Given the description of an element on the screen output the (x, y) to click on. 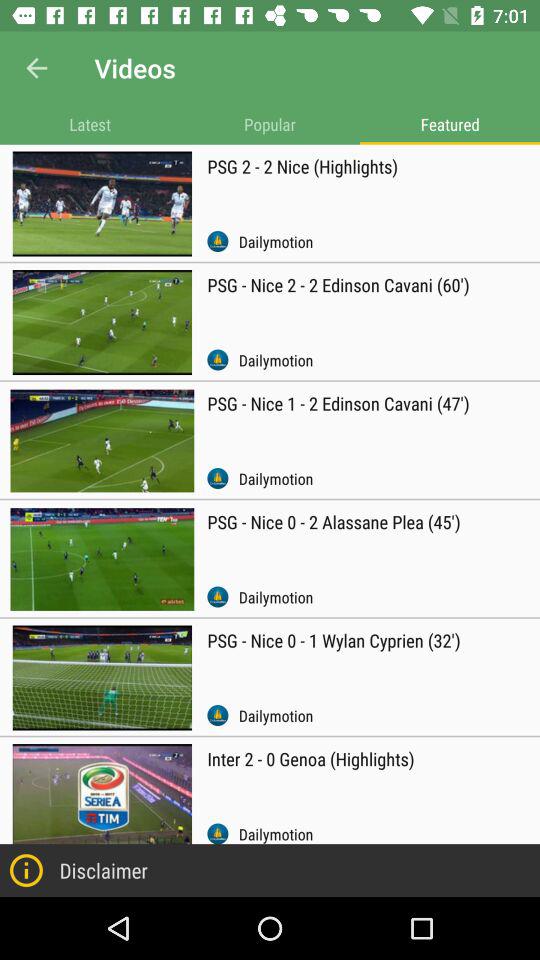
press item next to the popular (90, 124)
